Given the description of an element on the screen output the (x, y) to click on. 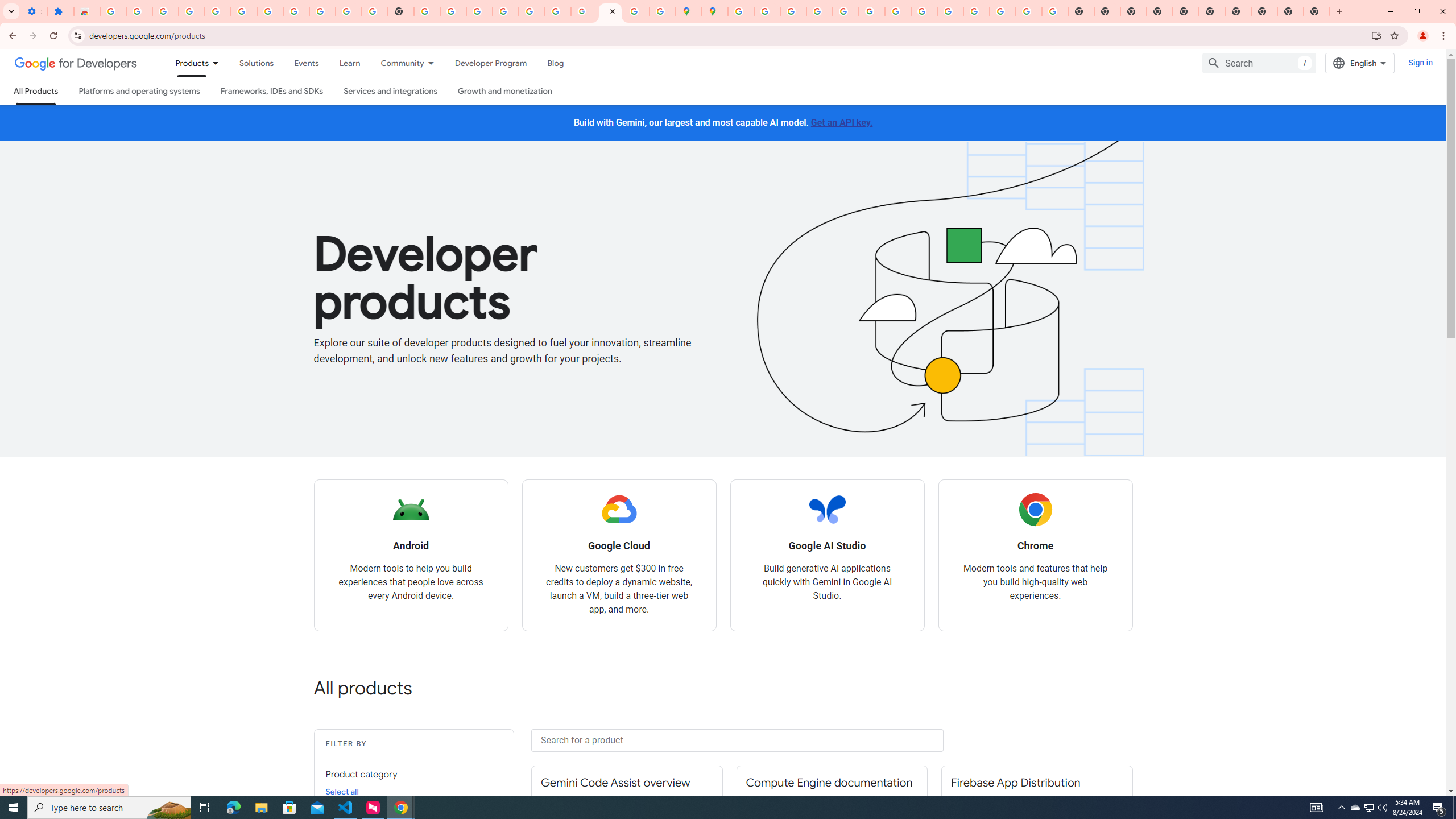
Frameworks, IDEs and SDKs (271, 90)
Settings - On startup (34, 11)
New Tab (1316, 11)
Products, selected (186, 62)
Sign in - Google Accounts (269, 11)
Extensions (60, 11)
Get an API key. (841, 122)
Solutions (255, 62)
